Given the description of an element on the screen output the (x, y) to click on. 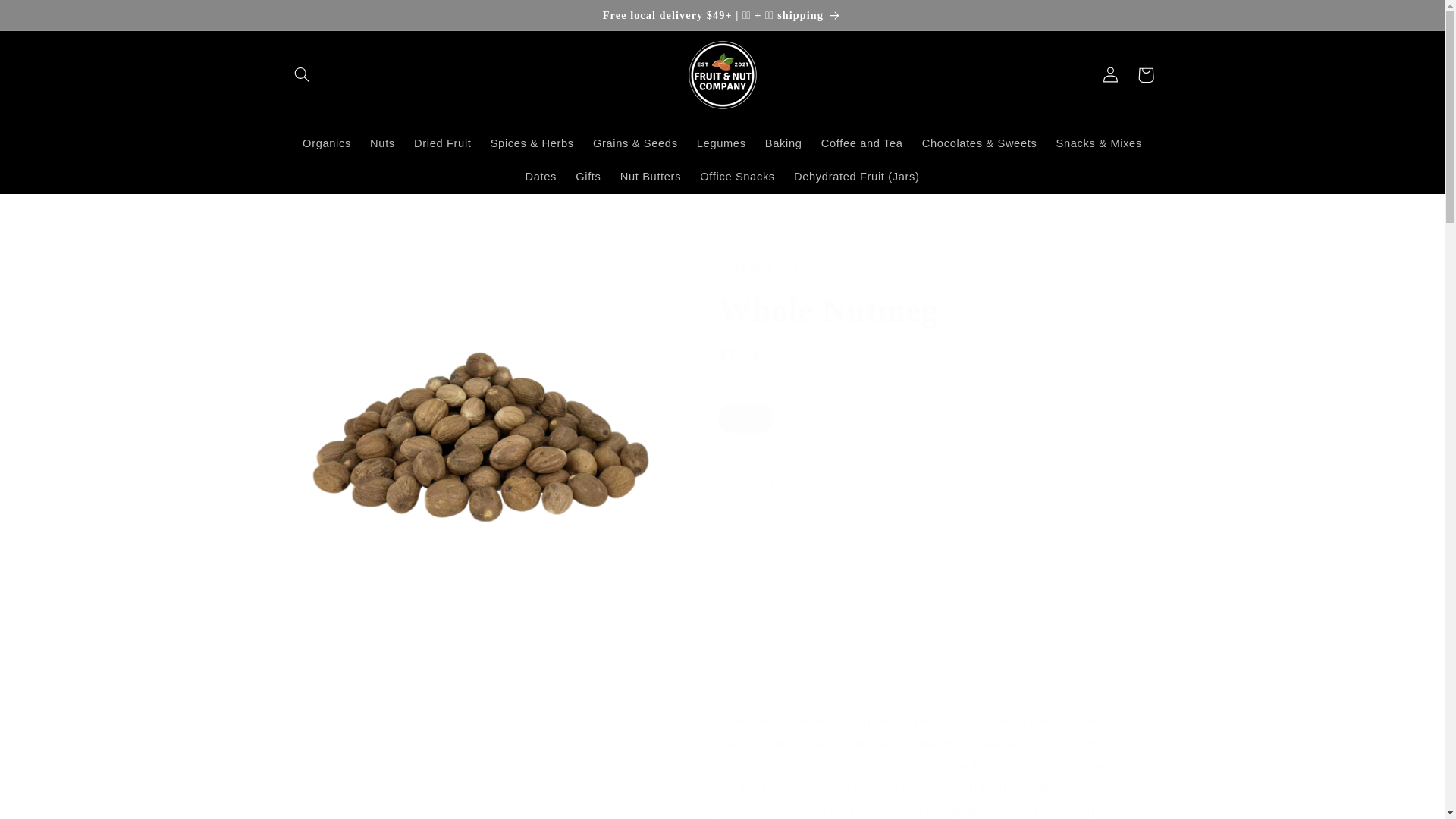
Skip to content (48, 18)
Dried Fruit (442, 143)
Nuts (382, 143)
Organics (325, 143)
Coffee and Tea (861, 143)
1 (771, 484)
Legumes (721, 143)
Baking (782, 143)
